Given the description of an element on the screen output the (x, y) to click on. 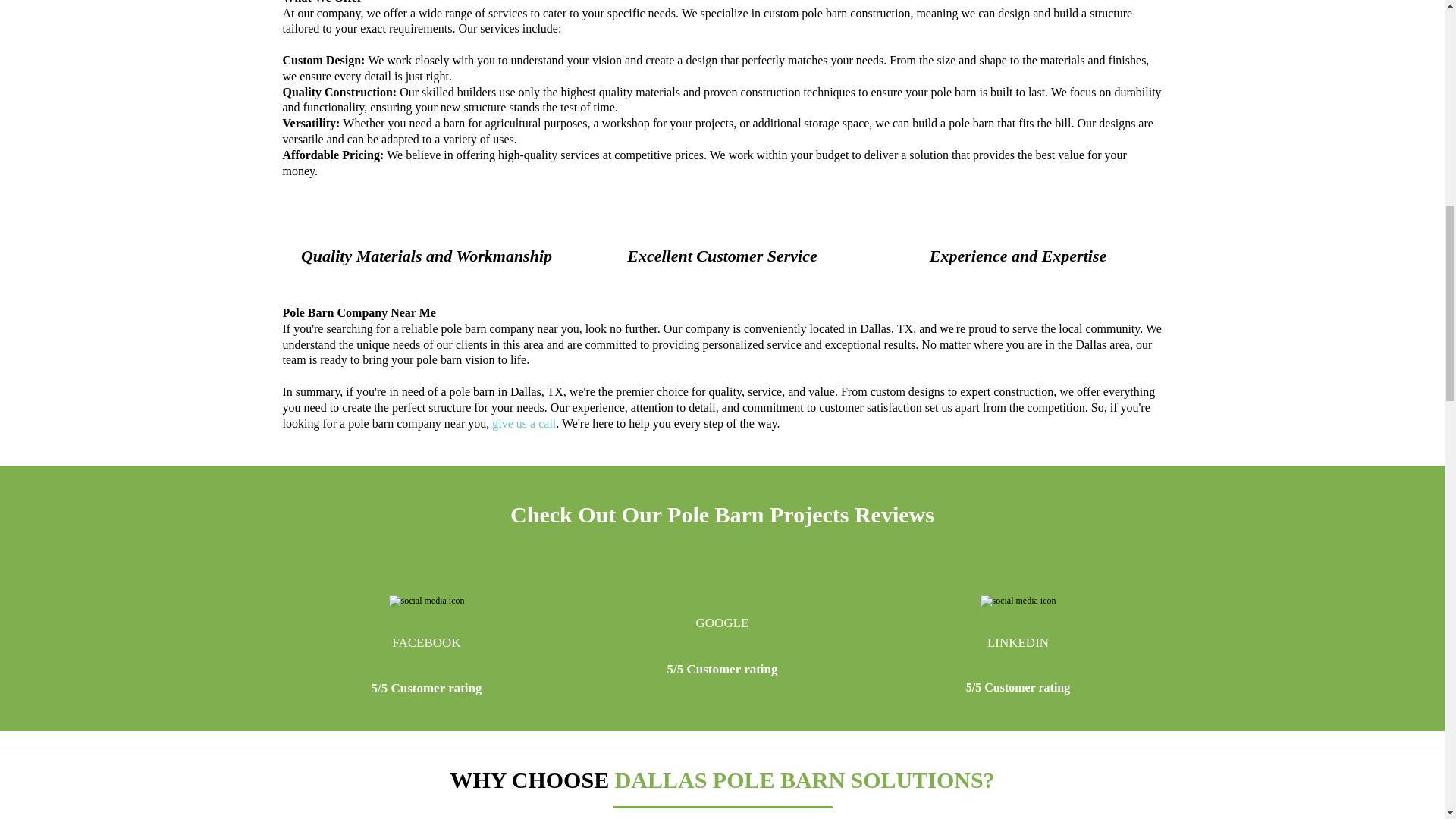
give us a call (524, 422)
